Given the description of an element on the screen output the (x, y) to click on. 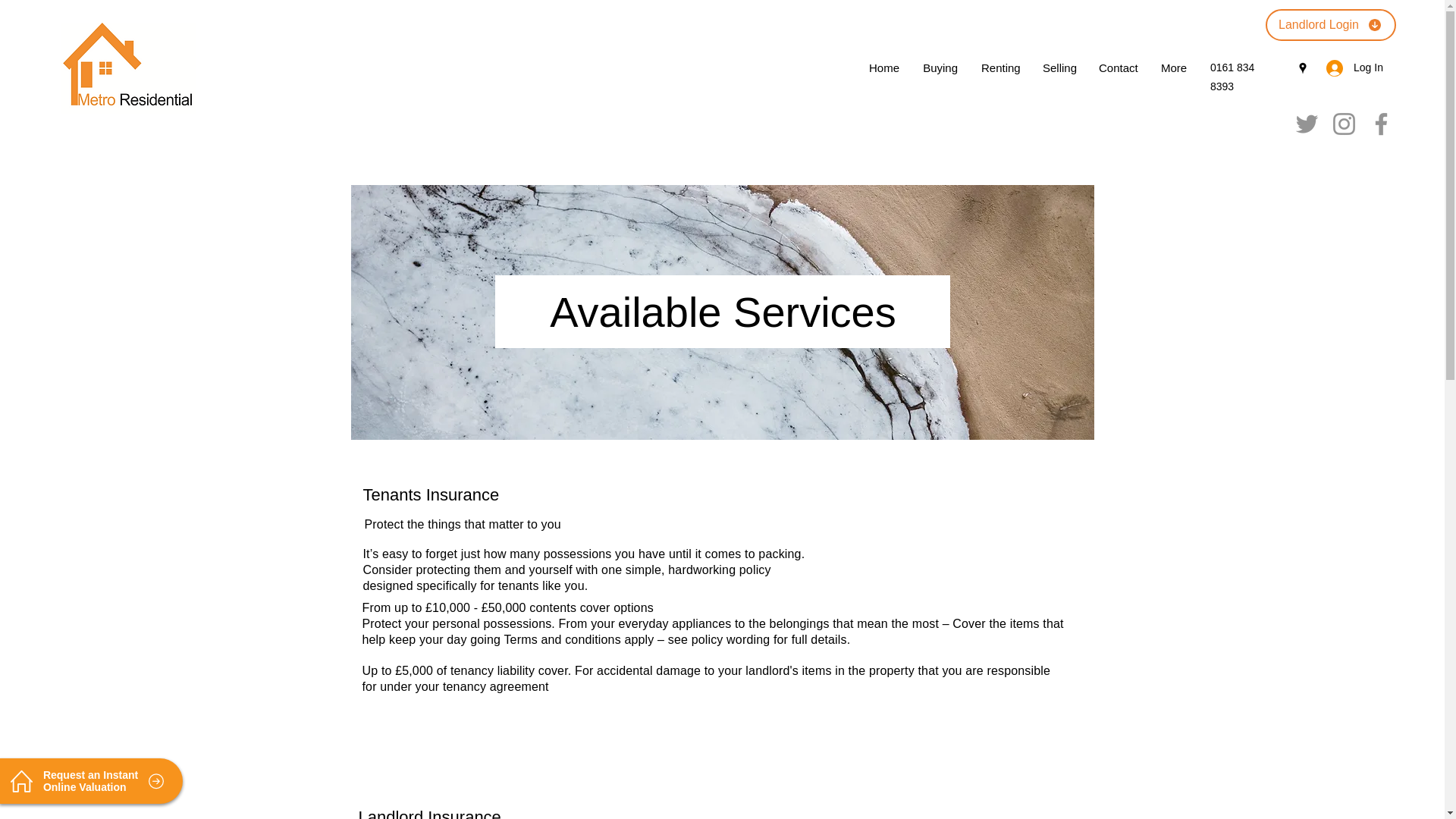
Buying (940, 67)
Home (884, 67)
Log In (1350, 67)
Contact (1117, 67)
Renting (999, 67)
Selling (1058, 67)
Landlord Login (1329, 24)
